Given the description of an element on the screen output the (x, y) to click on. 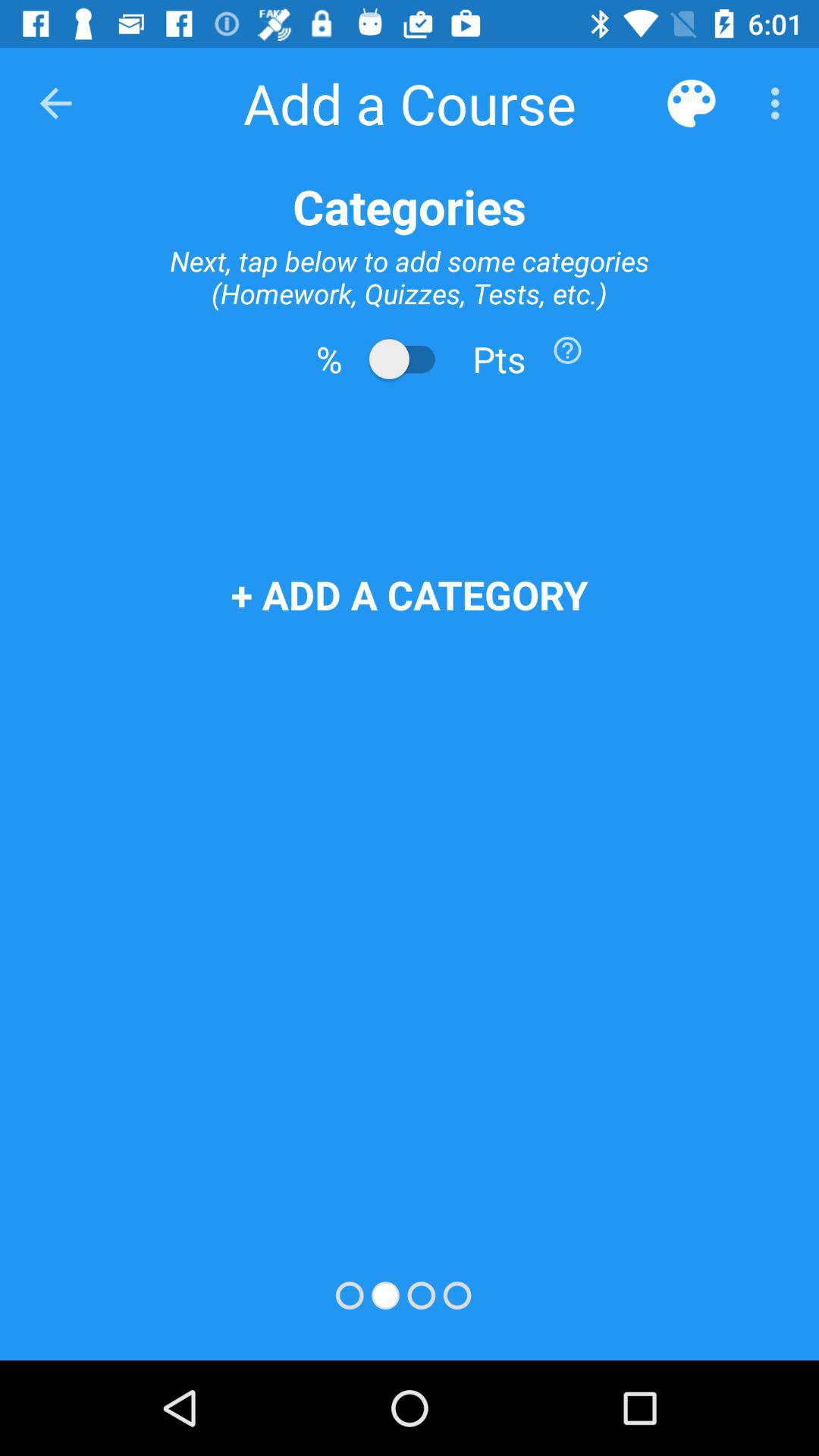
launch the item next to the pts (567, 350)
